Given the description of an element on the screen output the (x, y) to click on. 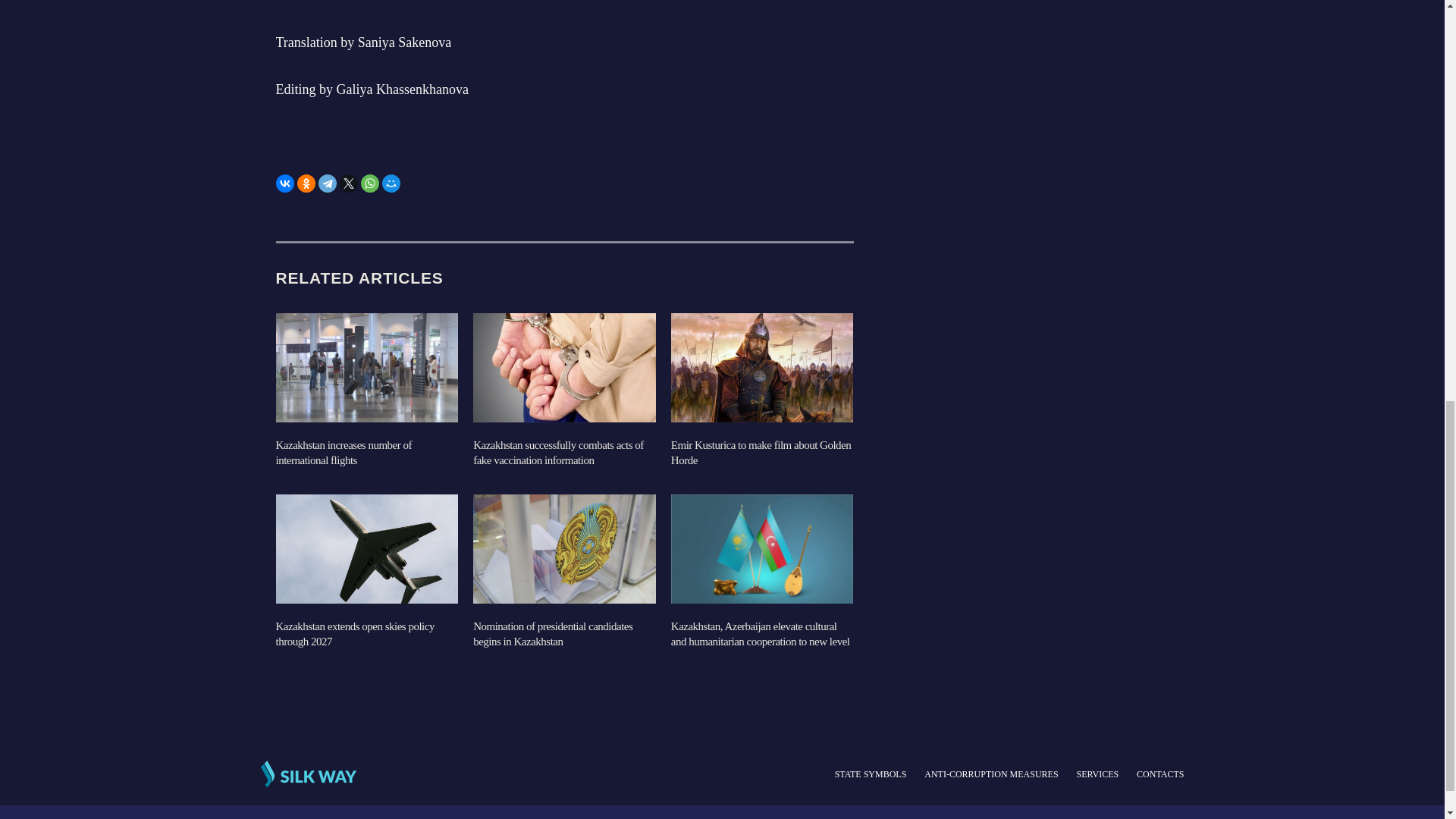
VKontakte (285, 183)
Moy Mir (390, 183)
Twitter (348, 183)
WhatsApp (369, 183)
Odnoklassniki (306, 183)
Telegram (327, 183)
